Given the description of an element on the screen output the (x, y) to click on. 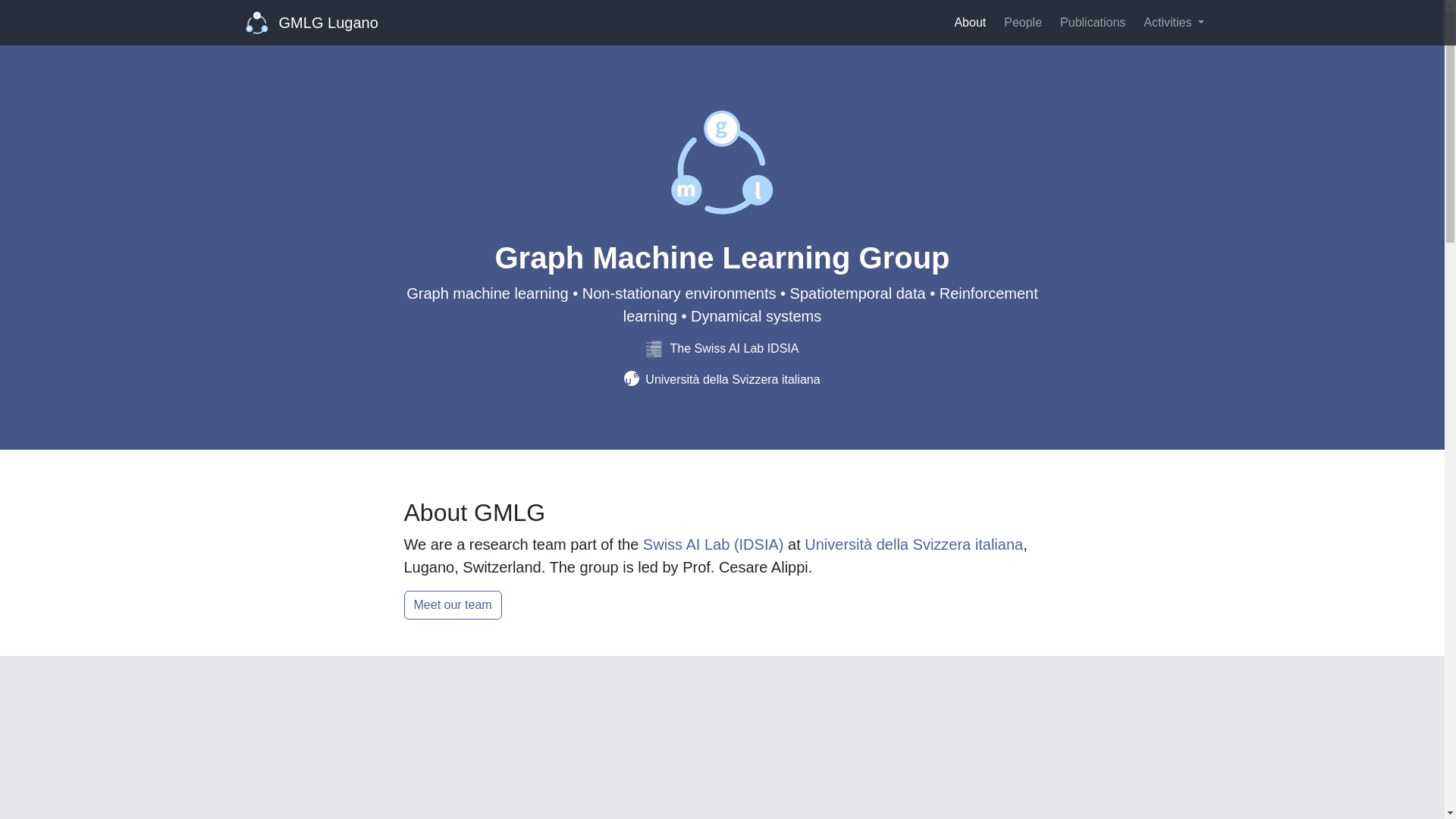
Publications (1092, 22)
Meet our team (451, 604)
People (1022, 22)
The Swiss AI Lab IDSIA (722, 348)
About (969, 22)
GMLG Lugano (312, 22)
Activities (1173, 22)
